Given the description of an element on the screen output the (x, y) to click on. 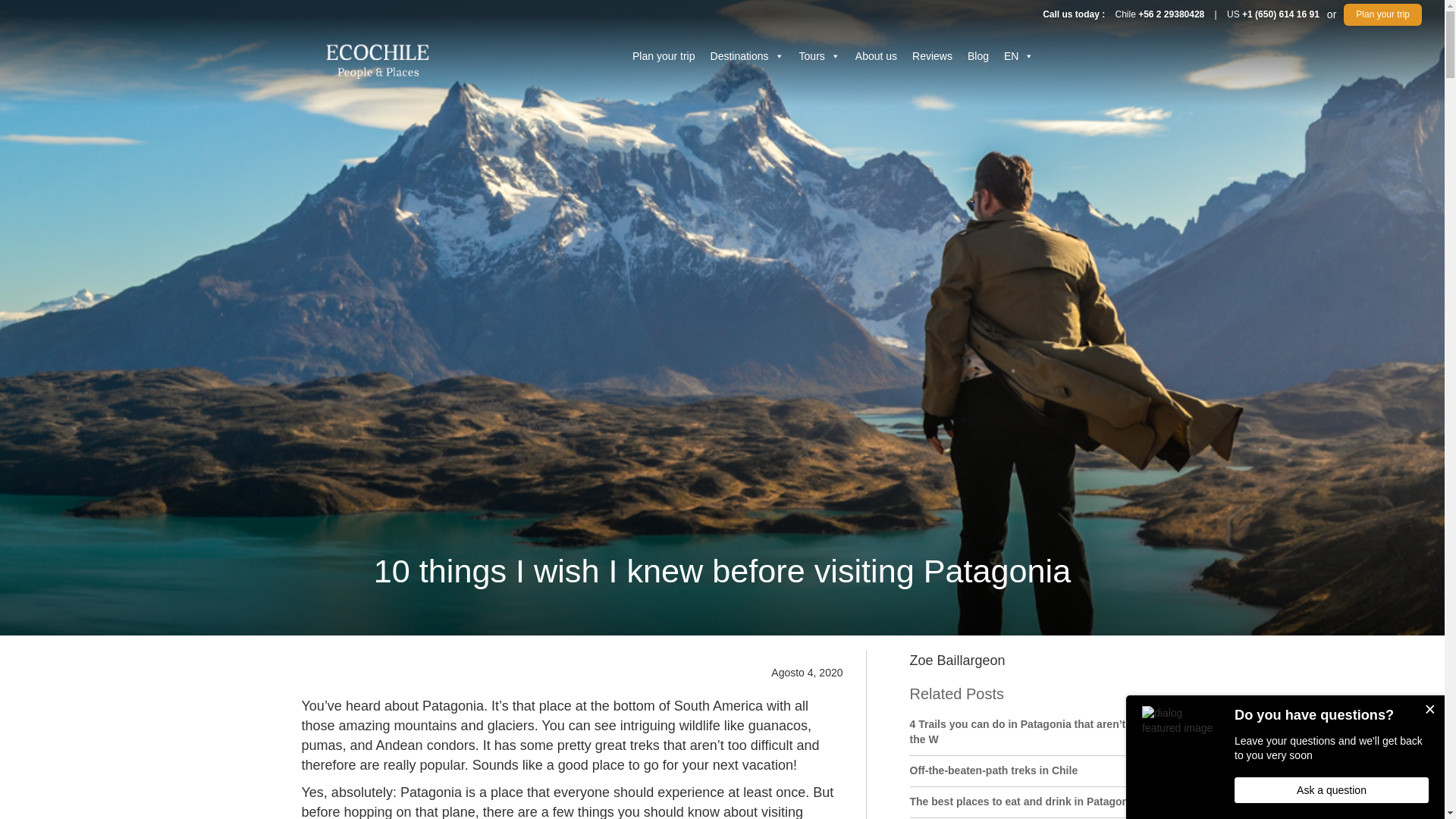
Plan your trip (1392, 12)
The best places to eat and drink in Patagonia (1023, 801)
Plan your trip (662, 48)
EN (1018, 51)
Destinations (747, 49)
Reviews (931, 51)
Off-the-beaten-path treks in Chile (994, 770)
Blog (977, 51)
EN (1018, 51)
About us (875, 51)
Tours (819, 51)
